Given the description of an element on the screen output the (x, y) to click on. 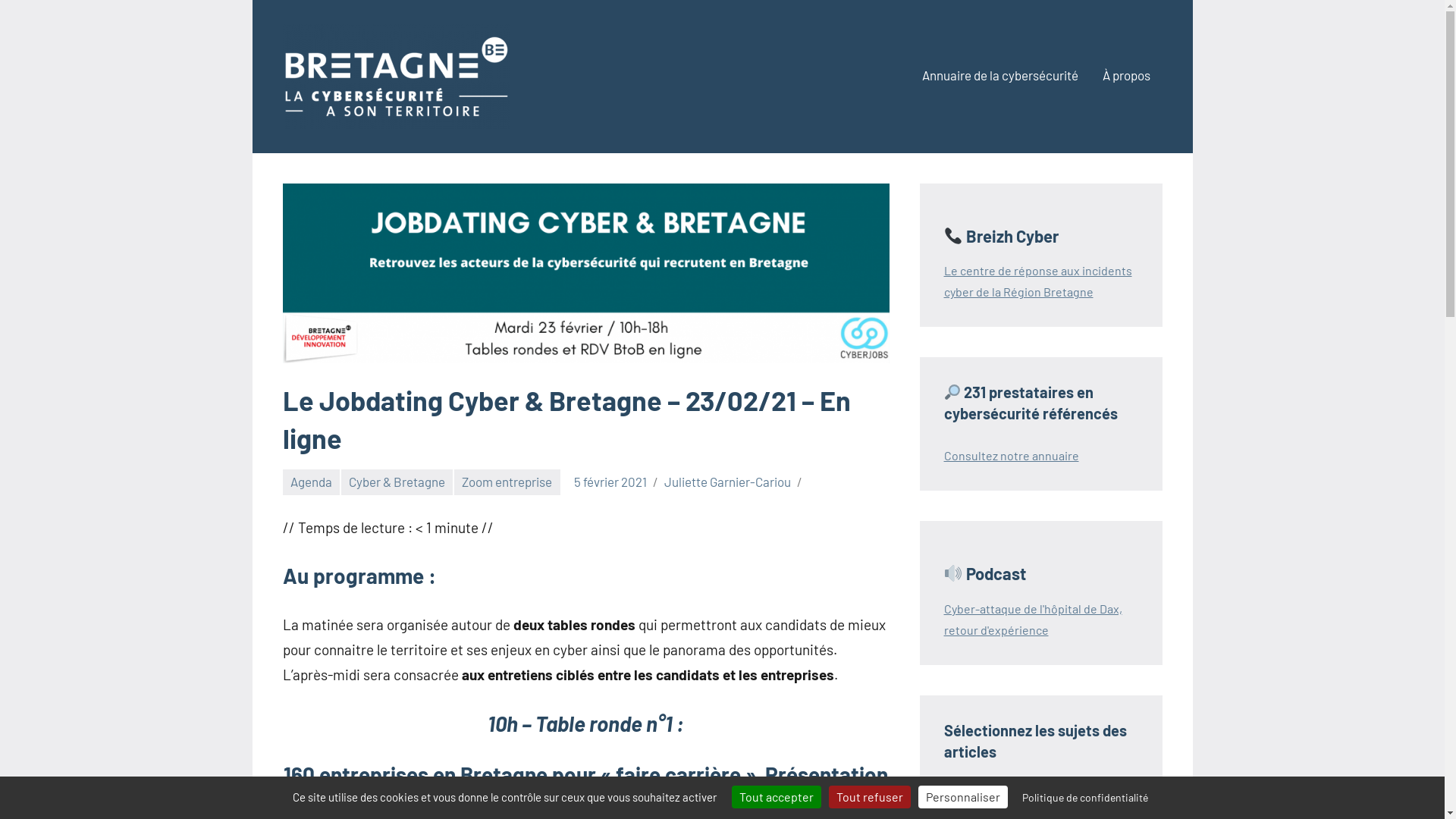
Zoom entreprise Element type: text (506, 481)
Tout refuser Element type: text (869, 796)
Tout accepter Element type: text (775, 796)
Agenda Element type: text (310, 481)
Consultez notre annuaire Element type: text (1010, 455)
Cyber & Bretagne Element type: text (396, 481)
Agenda Element type: text (981, 793)
Personnaliser Element type: text (962, 796)
Juliette Garnier-Cariou Element type: text (727, 481)
